Given the description of an element on the screen output the (x, y) to click on. 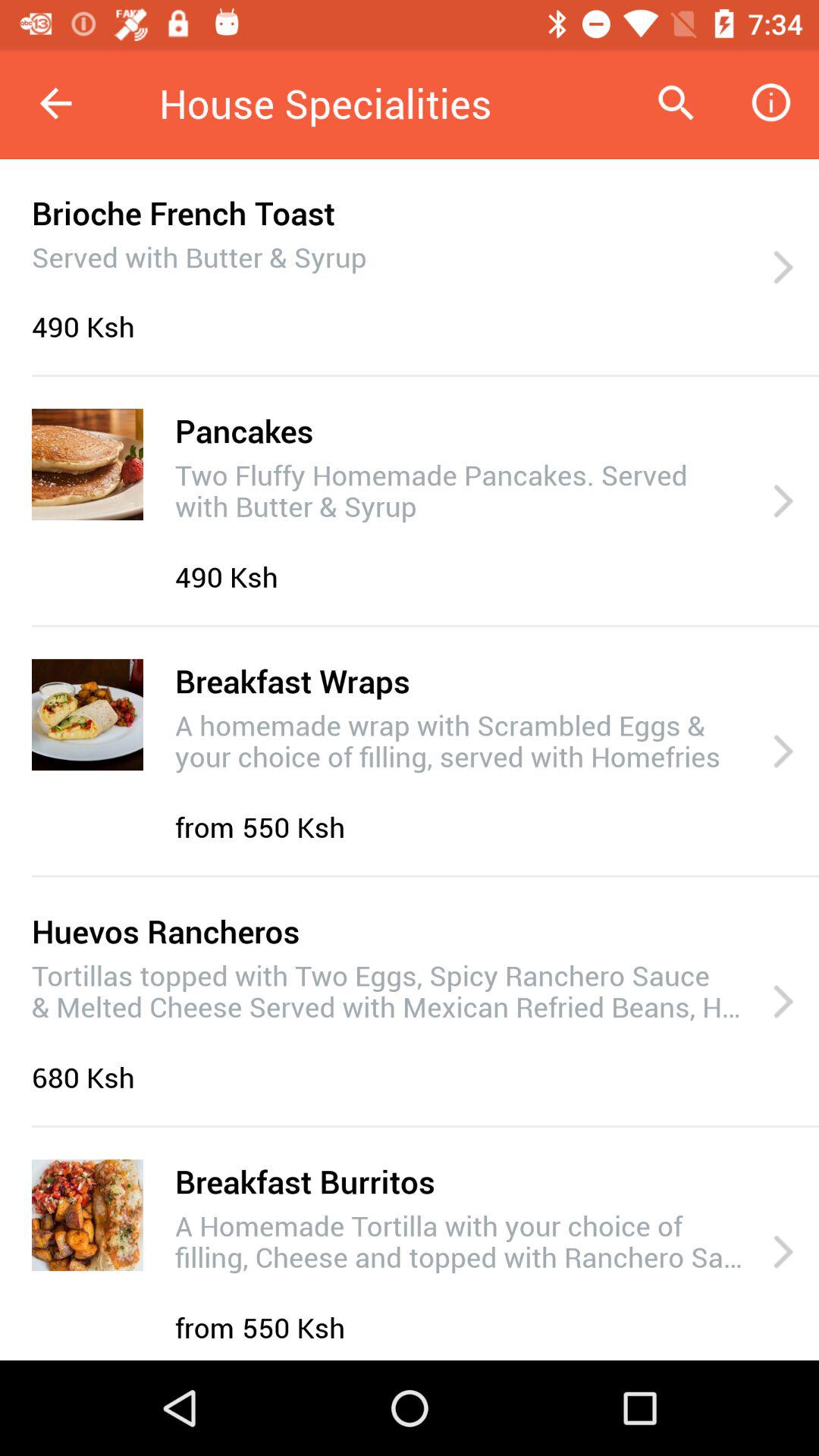
press item next to a homemade wrap item (783, 752)
